Given the description of an element on the screen output the (x, y) to click on. 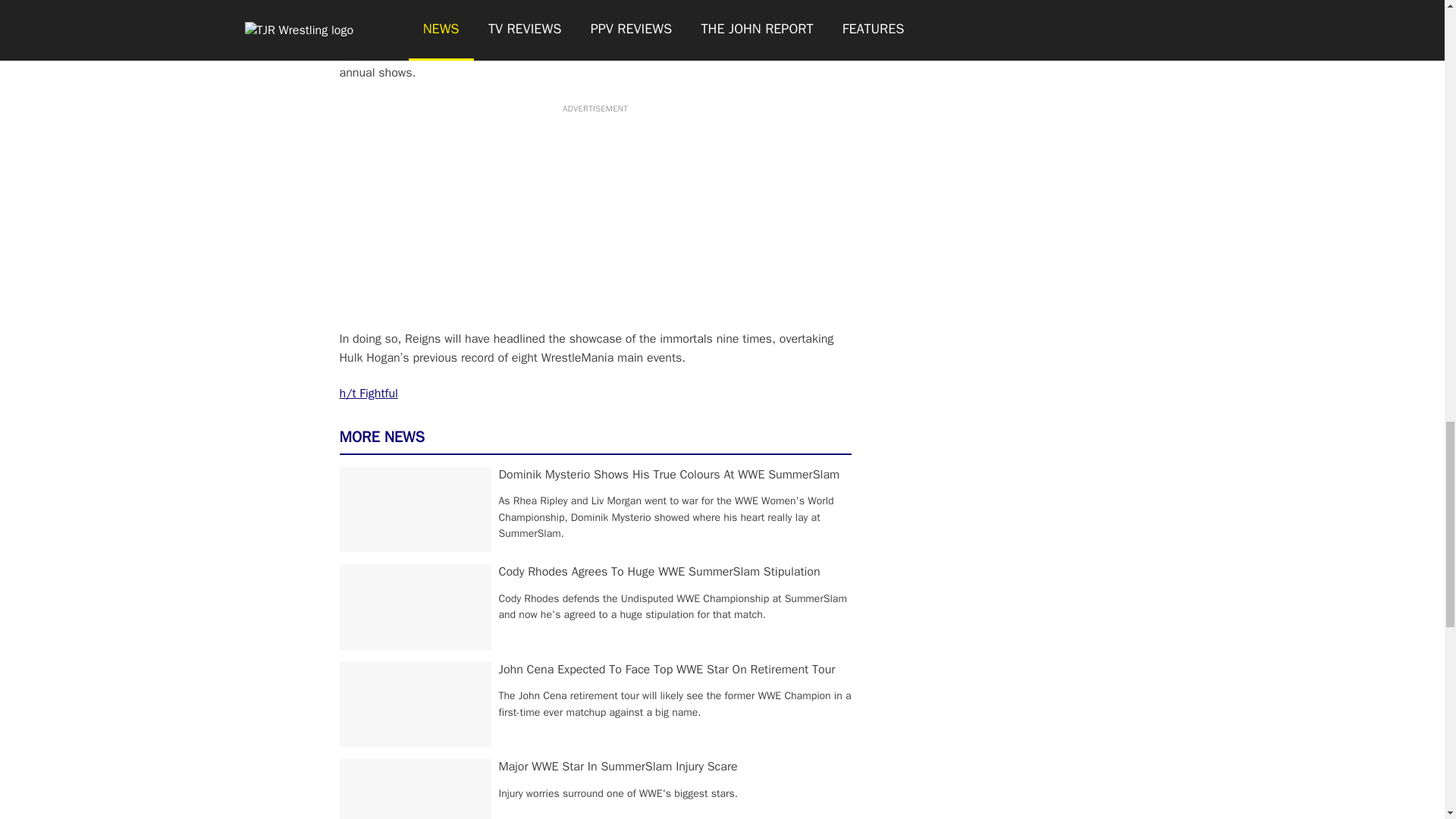
Major WWE Star In SummerSlam Injury Scare (618, 766)
John Cena Expected To Face Top WWE Star On Retirement Tour (667, 669)
Cody Rhodes Agrees To Huge WWE SummerSlam Stipulation (660, 571)
Dominik Mysterio Shows His True Colours At WWE SummerSlam (669, 474)
